Given the description of an element on the screen output the (x, y) to click on. 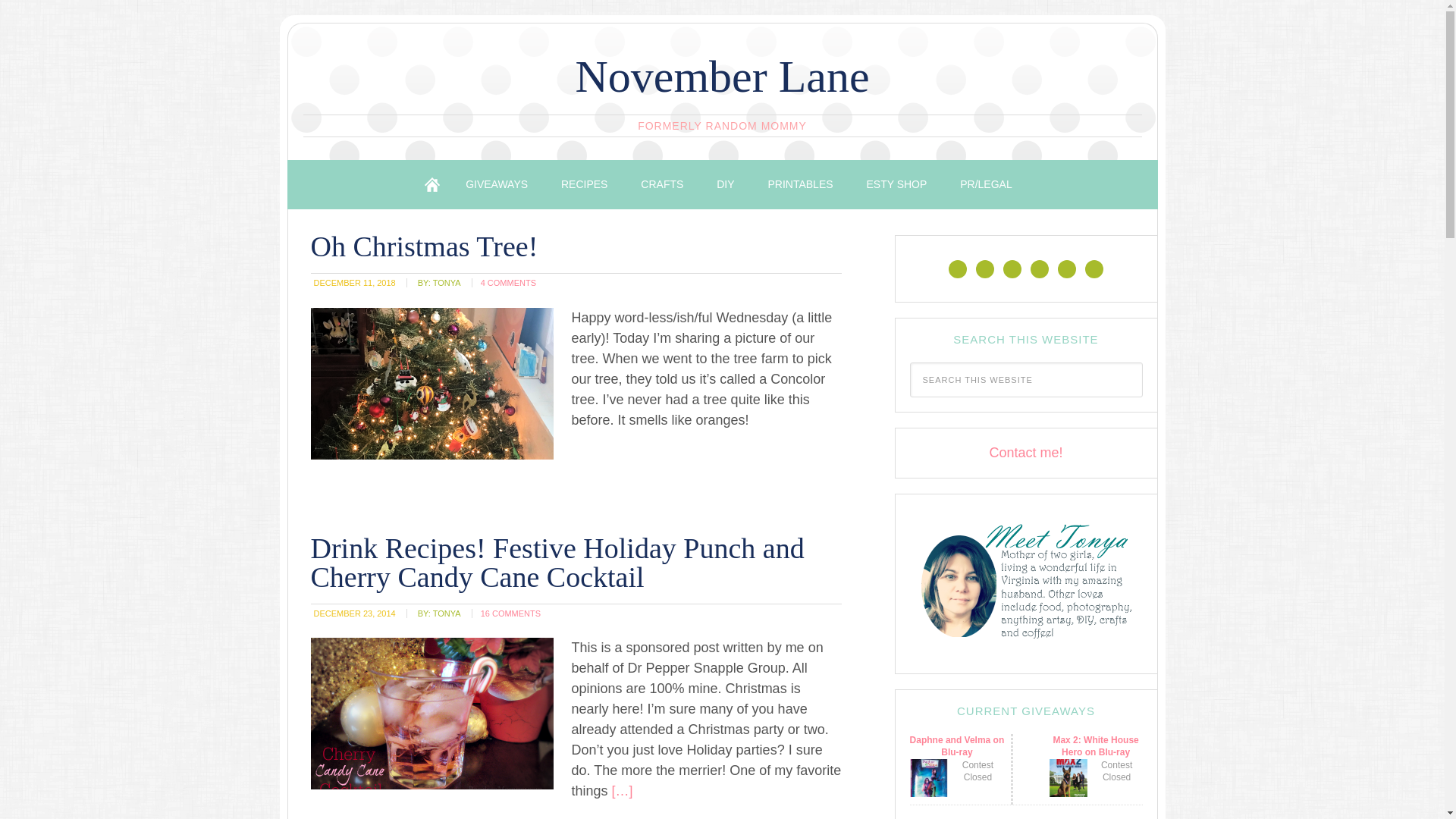
RECIPES (584, 184)
DIY (725, 184)
GIVEAWAYS (496, 184)
16 COMMENTS (510, 612)
CRAFTS (662, 184)
Oh Christmas Tree! (424, 246)
PRINTABLES (799, 184)
November Lane (722, 76)
ESTY SHOP (896, 184)
4 COMMENTS (507, 282)
